Given the description of an element on the screen output the (x, y) to click on. 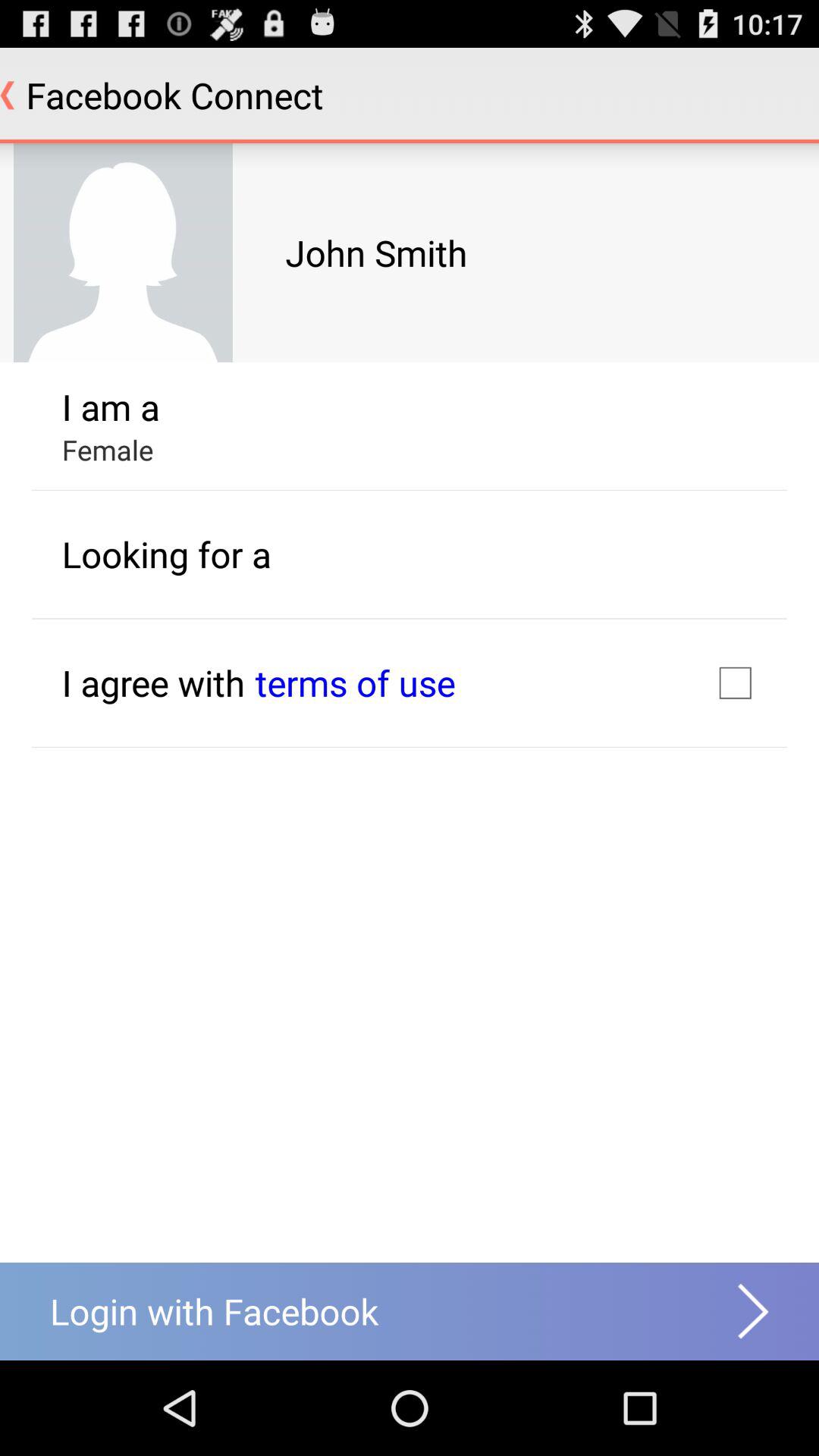
press the icon below the looking for a app (153, 682)
